Given the description of an element on the screen output the (x, y) to click on. 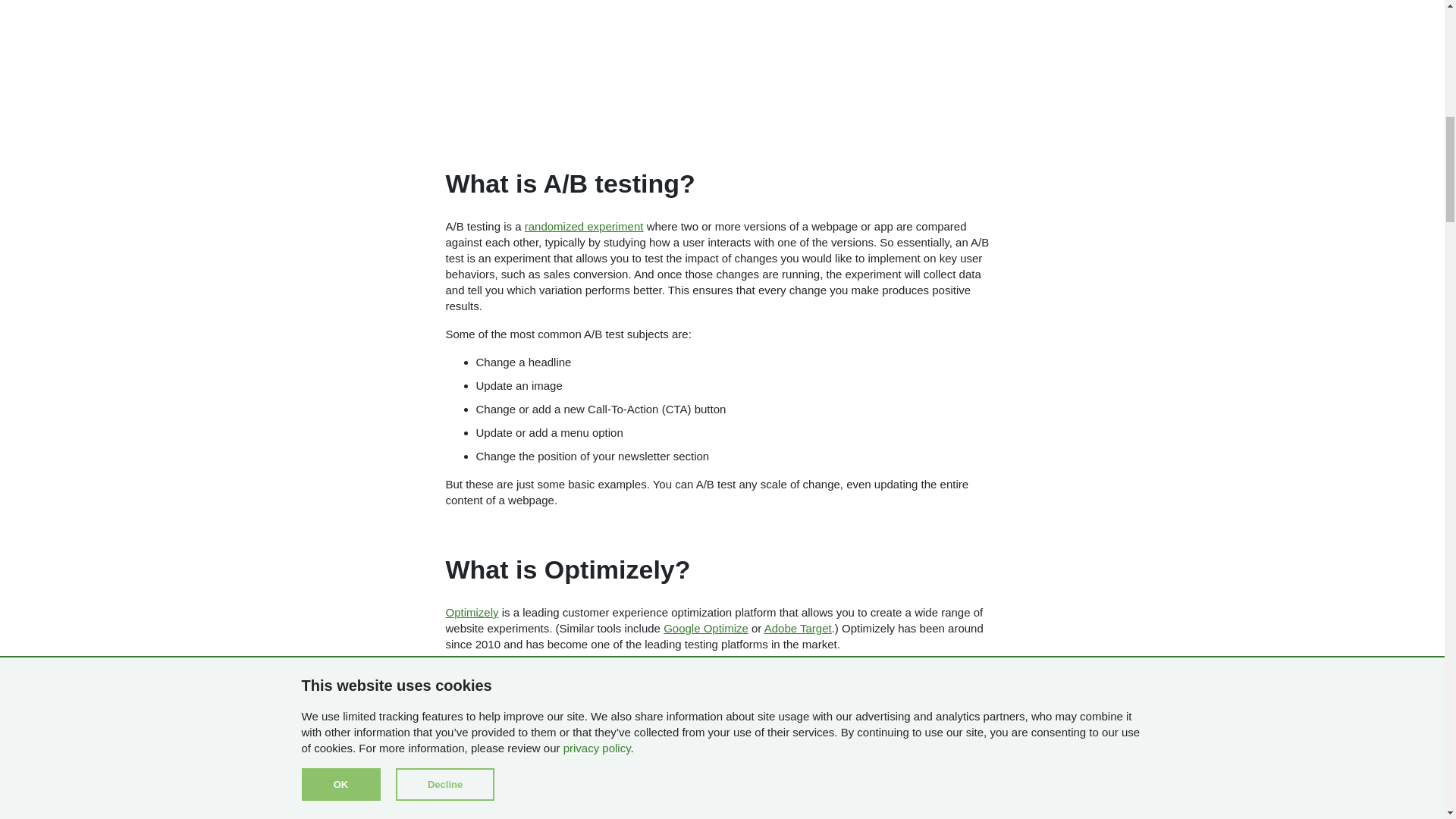
randomized experiment (583, 226)
Adobe Target (797, 627)
desktop application (545, 687)
Optimizely (472, 612)
Google Optimize (705, 627)
